Given the description of an element on the screen output the (x, y) to click on. 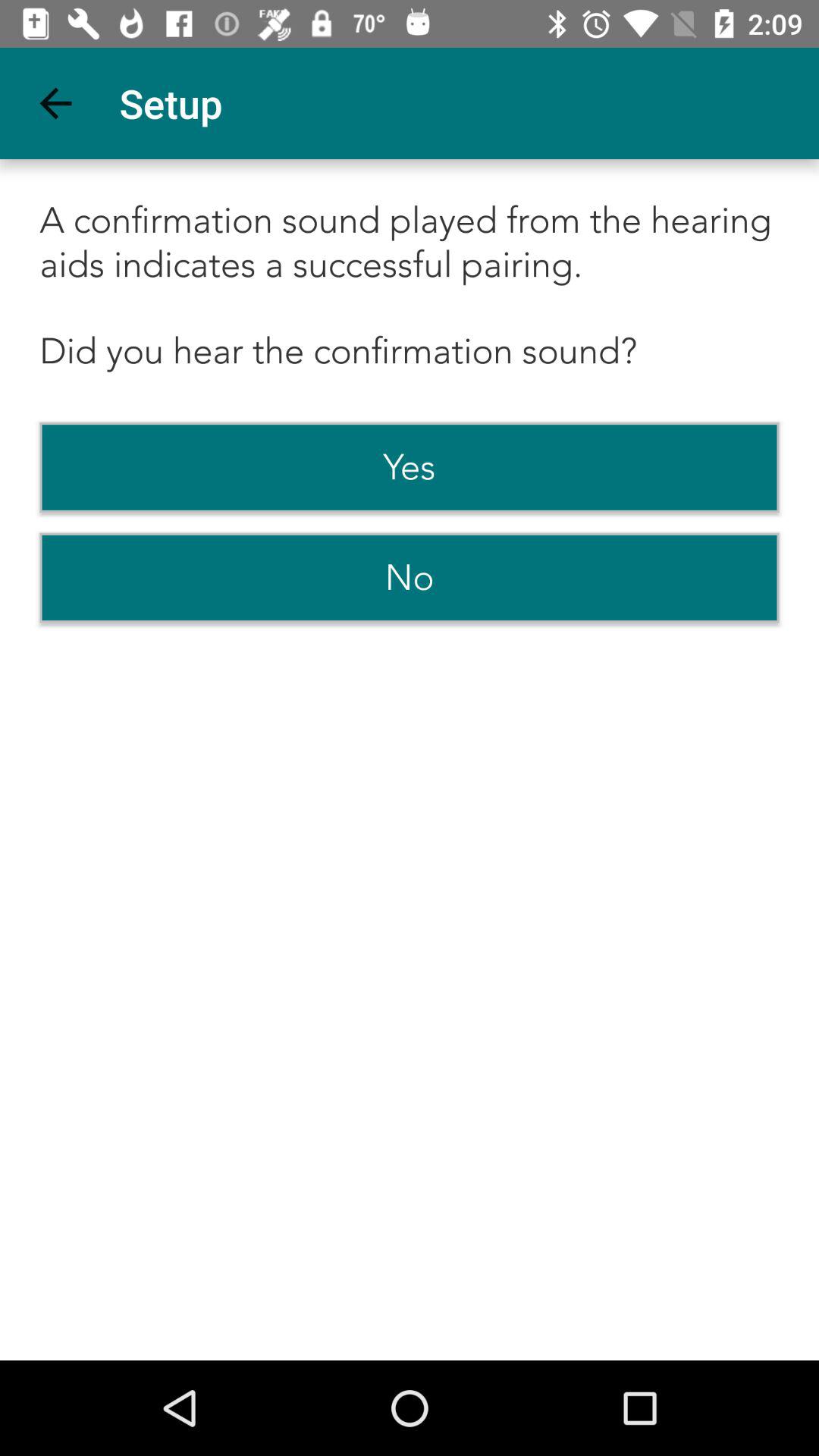
tap the app to the left of the setup icon (55, 103)
